Given the description of an element on the screen output the (x, y) to click on. 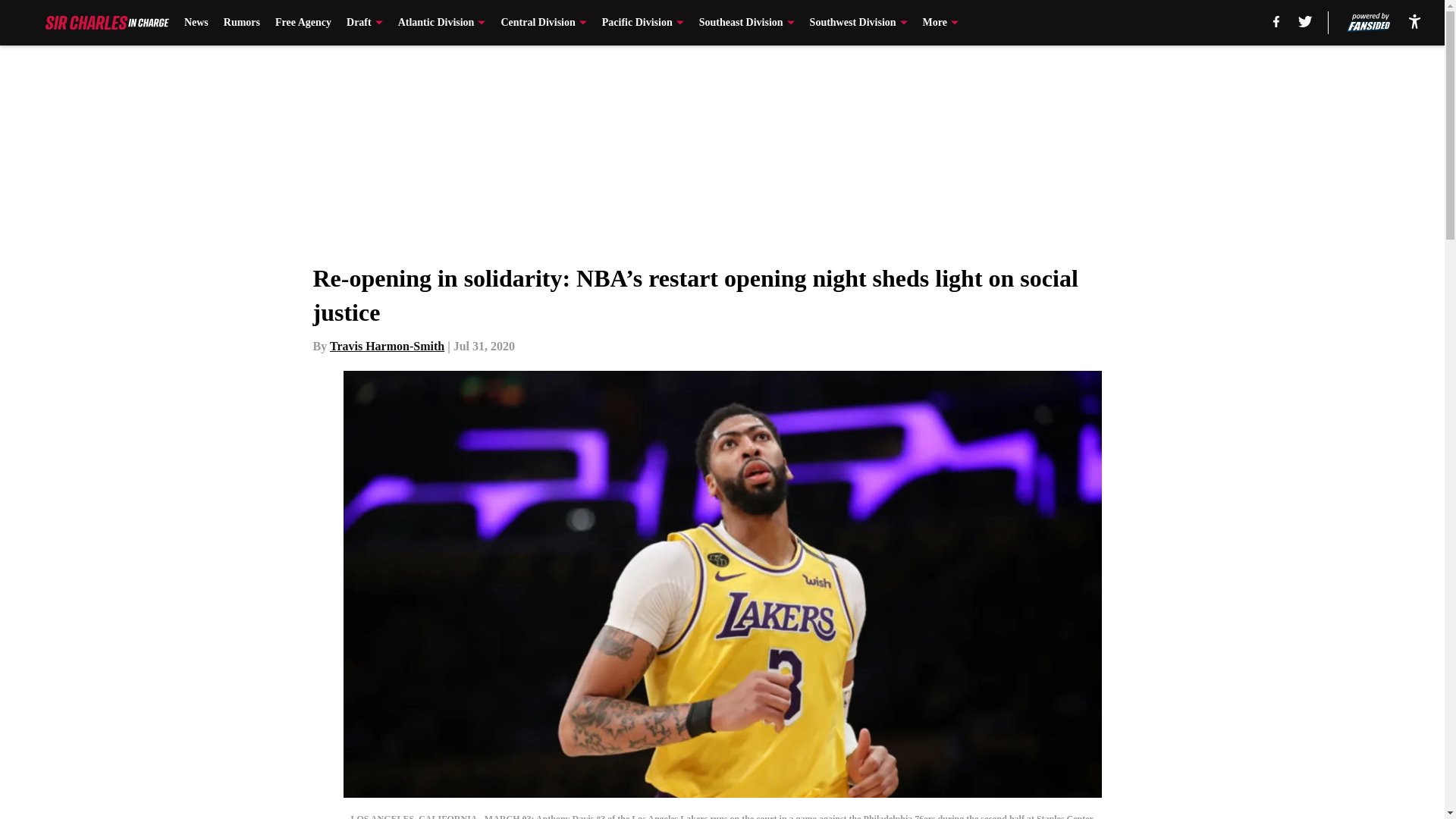
Rumors (242, 22)
Central Division (543, 22)
Free Agency (303, 22)
Pacific Division (643, 22)
Atlantic Division (441, 22)
News (196, 22)
Southeast Division (746, 22)
Draft (364, 22)
